Given the description of an element on the screen output the (x, y) to click on. 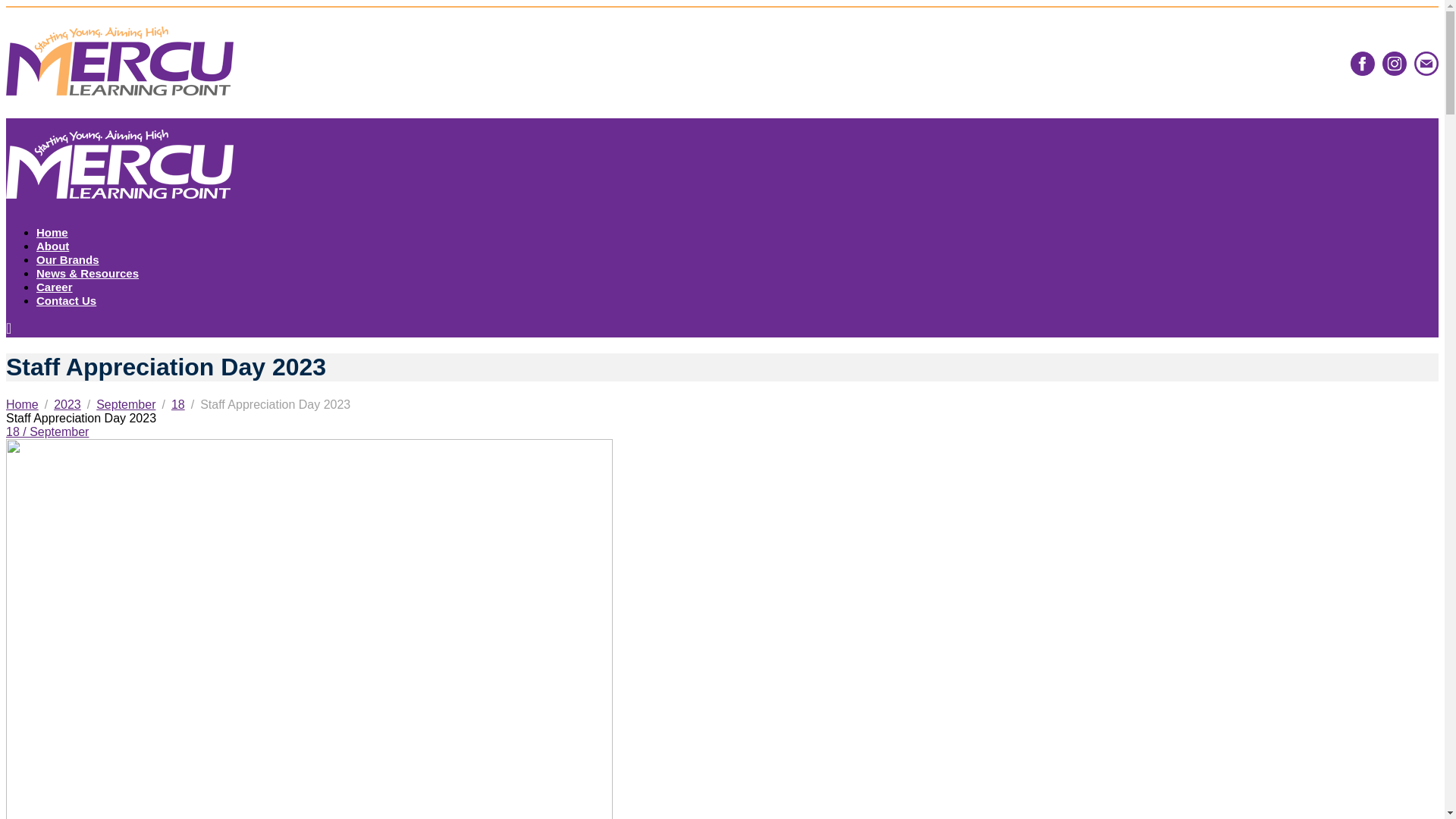
Contact Us (66, 300)
September (125, 404)
About (52, 245)
Our Brands (67, 259)
Home (52, 232)
 Facebook (1362, 63)
Home (22, 404)
 Instagram (1393, 63)
18 (177, 404)
Career (54, 286)
2023 (67, 404)
